Given the description of an element on the screen output the (x, y) to click on. 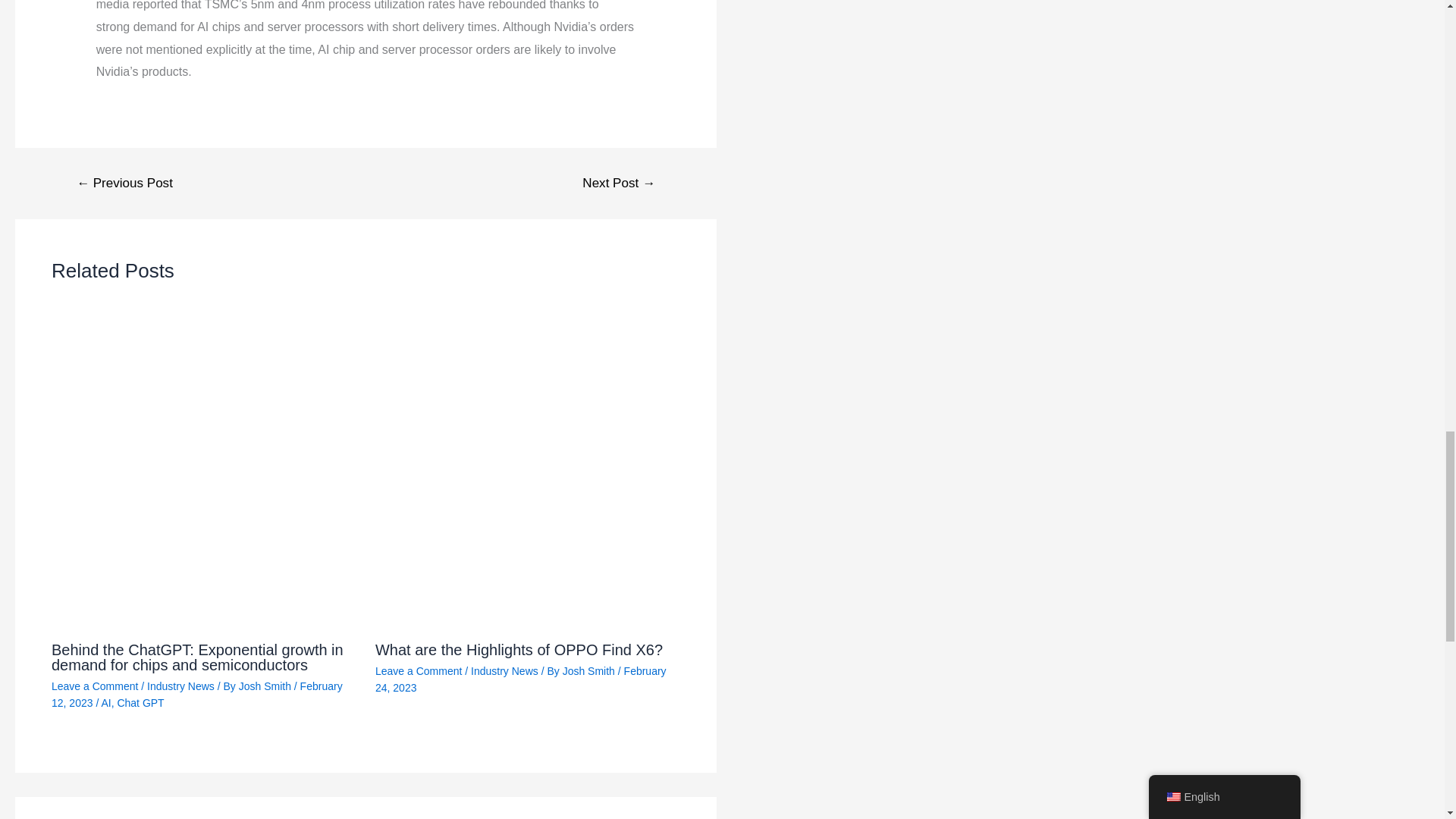
View all posts by Josh Smith (266, 686)
View all posts by Josh Smith (589, 671)
